Given the description of an element on the screen output the (x, y) to click on. 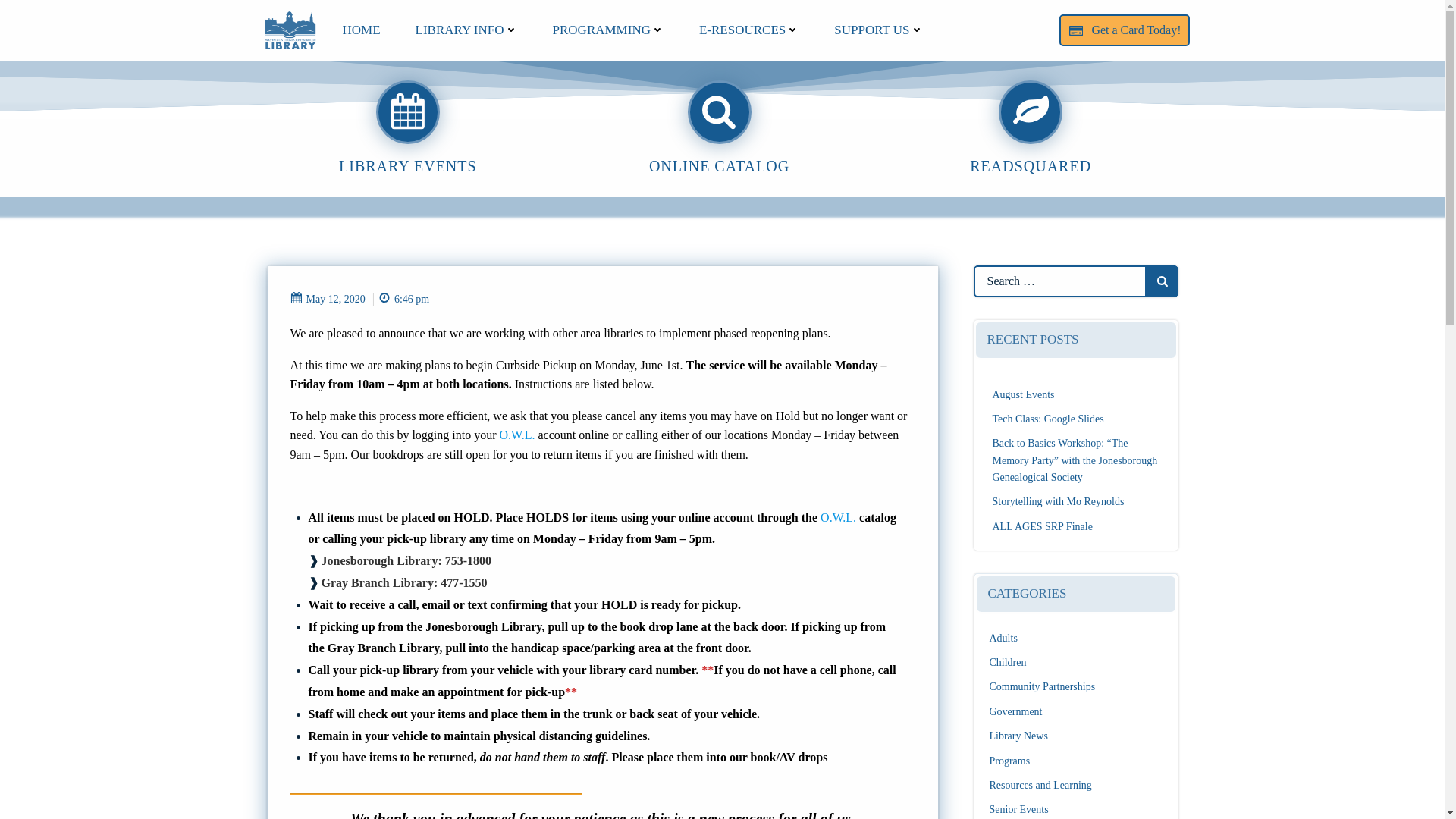
HOME (361, 29)
LIBRARY INFO (466, 29)
PROGRAMMING (608, 29)
E-RESOURCES (748, 29)
